Given the description of an element on the screen output the (x, y) to click on. 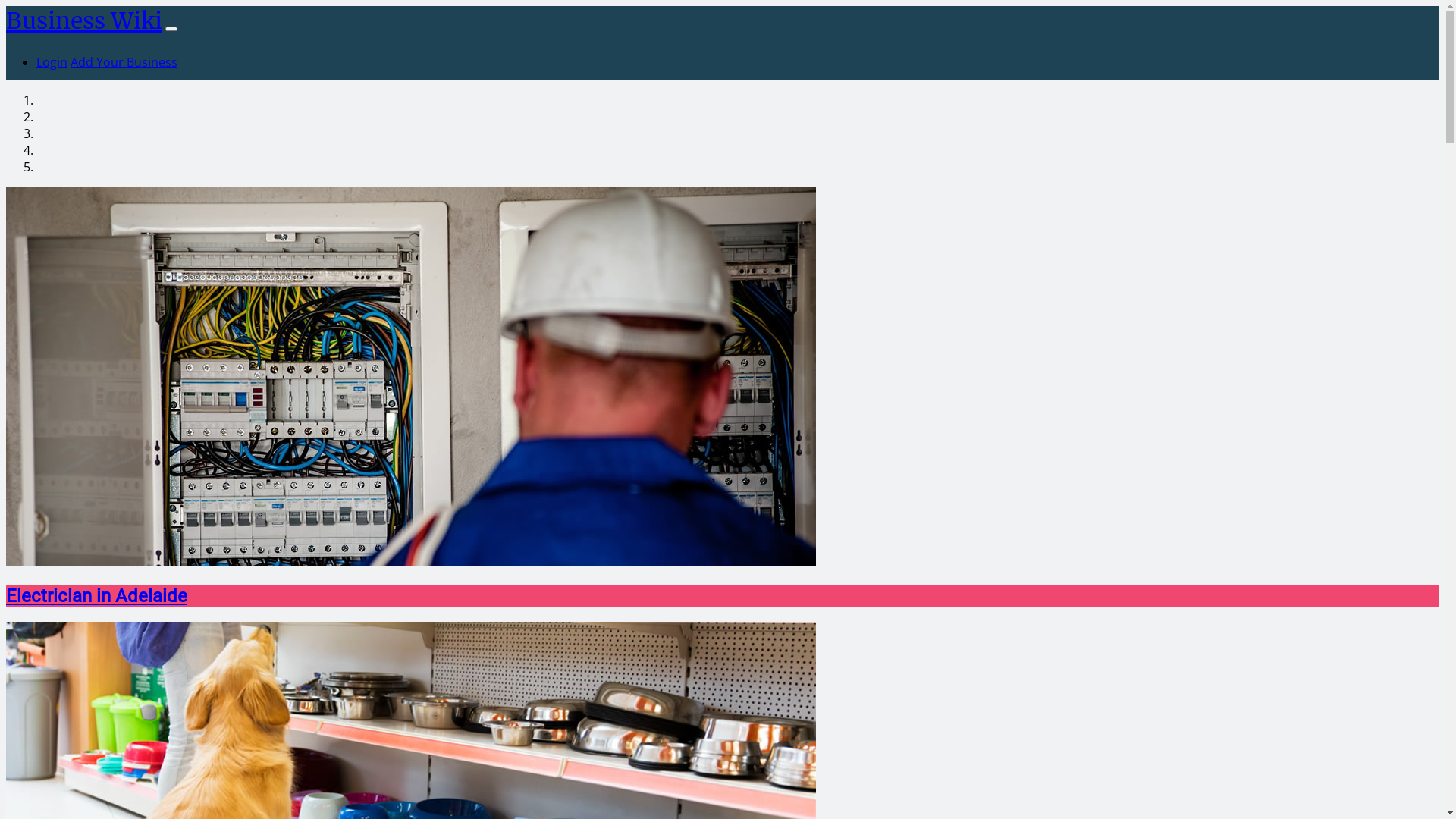
Business Wiki Element type: text (84, 20)
Electrician in Adelaide Element type: text (96, 595)
Login Element type: text (51, 61)
Add Your Business Element type: text (123, 61)
